Given the description of an element on the screen output the (x, y) to click on. 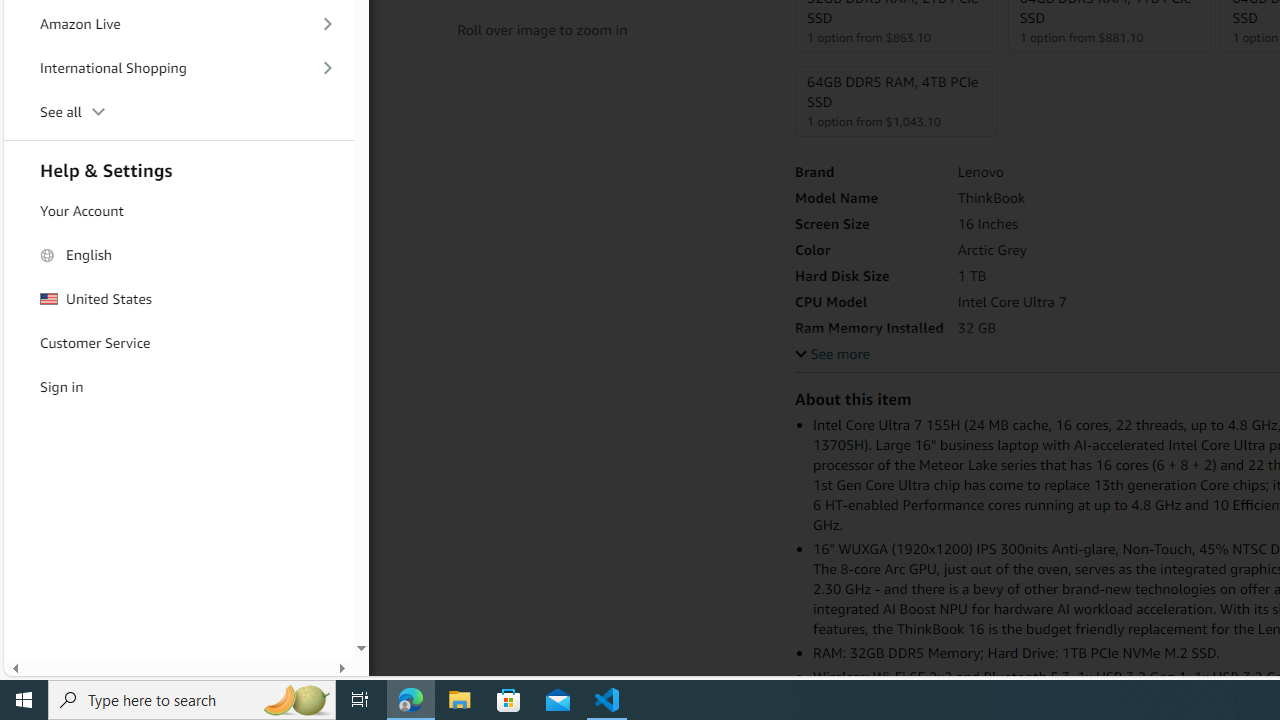
See all (178, 112)
English (178, 255)
64GB DDR5 RAM, 4TB PCIe SSD 1 option from $1,043.10 (897, 101)
International Shopping (178, 68)
Your Account (178, 212)
Your Account (178, 210)
Help & Settings (178, 168)
English (178, 254)
Sign in (178, 386)
Customer Service (178, 342)
See all (178, 111)
Amazon Live (178, 23)
United States (178, 299)
Customer Service (178, 343)
Sign in (178, 387)
